Given the description of an element on the screen output the (x, y) to click on. 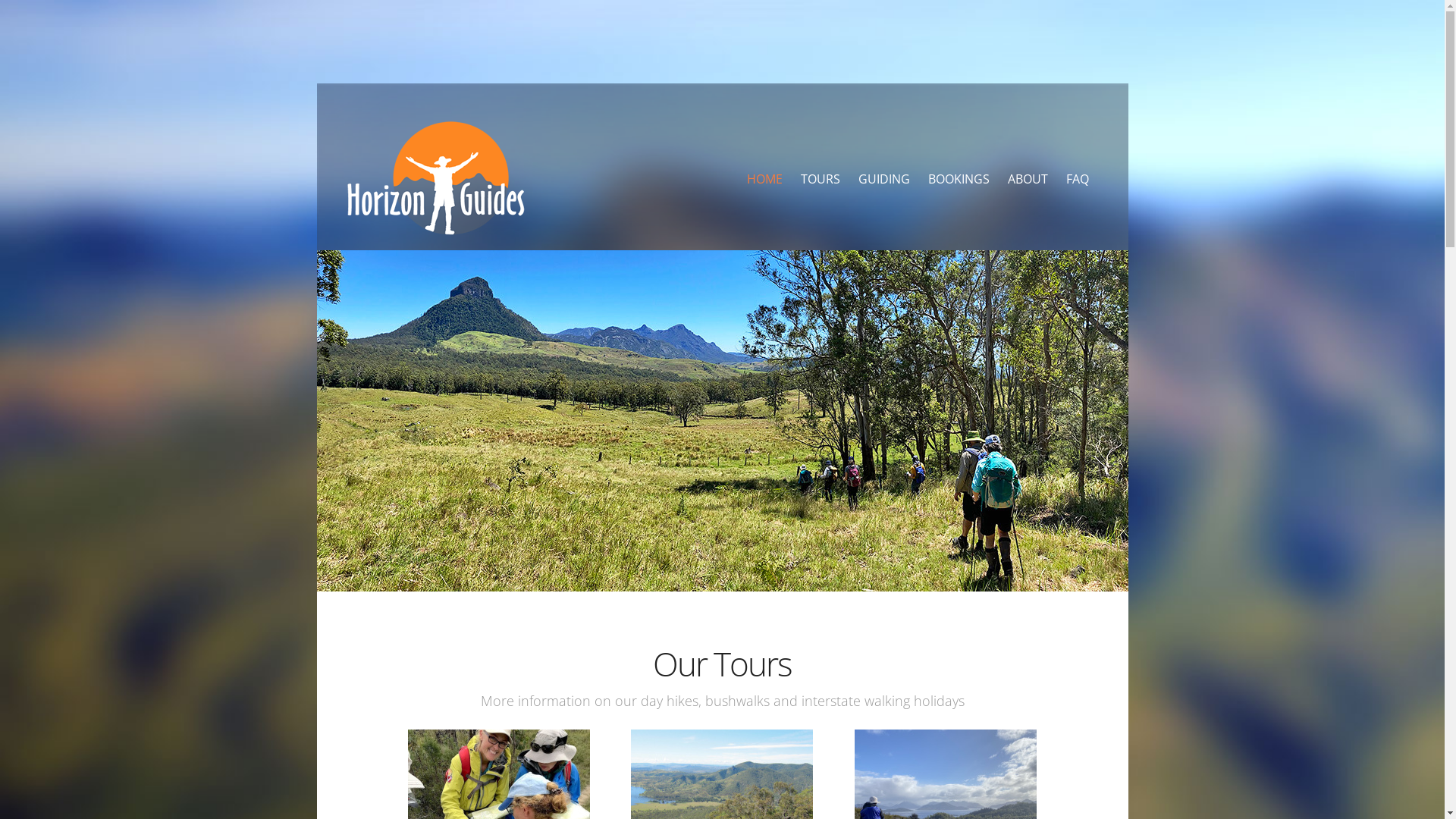
HOME Element type: text (763, 178)
FAQ Element type: text (1077, 178)
TOURS Element type: text (820, 178)
Bluap Element type: text (435, 178)
BOOKINGS Element type: text (958, 178)
ABOUT Element type: text (1026, 178)
GUIDING Element type: text (884, 178)
